Given the description of an element on the screen output the (x, y) to click on. 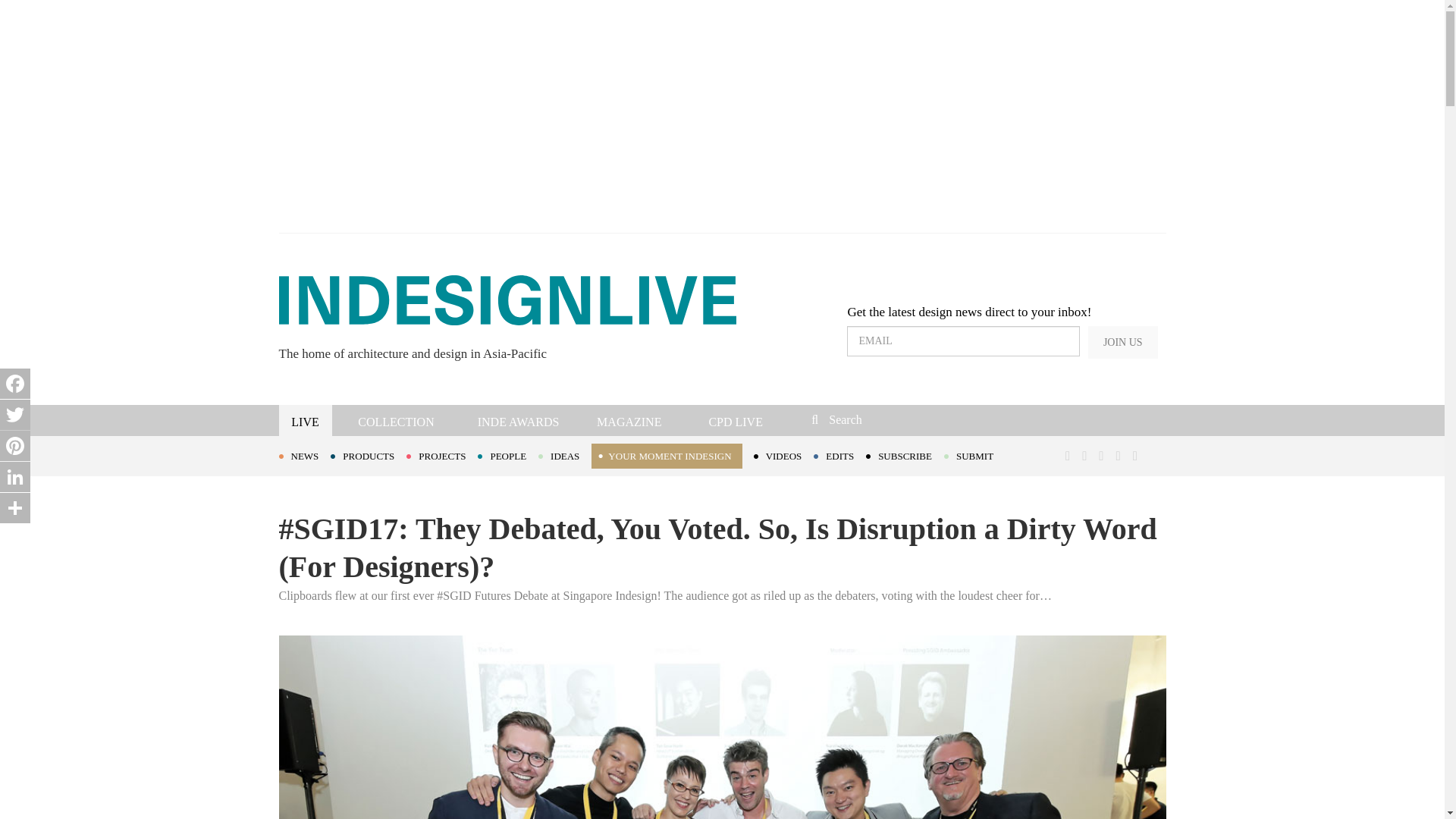
PEOPLE (507, 455)
IDEAS (564, 455)
JOIN US (1122, 341)
Search (913, 418)
PROJECTS (441, 455)
SUBMIT (974, 455)
PRODUCTS (368, 455)
SUBSCRIBE (904, 455)
VIDEOS (783, 455)
YOUR MOMENT INDESIGN (666, 455)
NEWS (305, 455)
EDITS (839, 455)
